Given the description of an element on the screen output the (x, y) to click on. 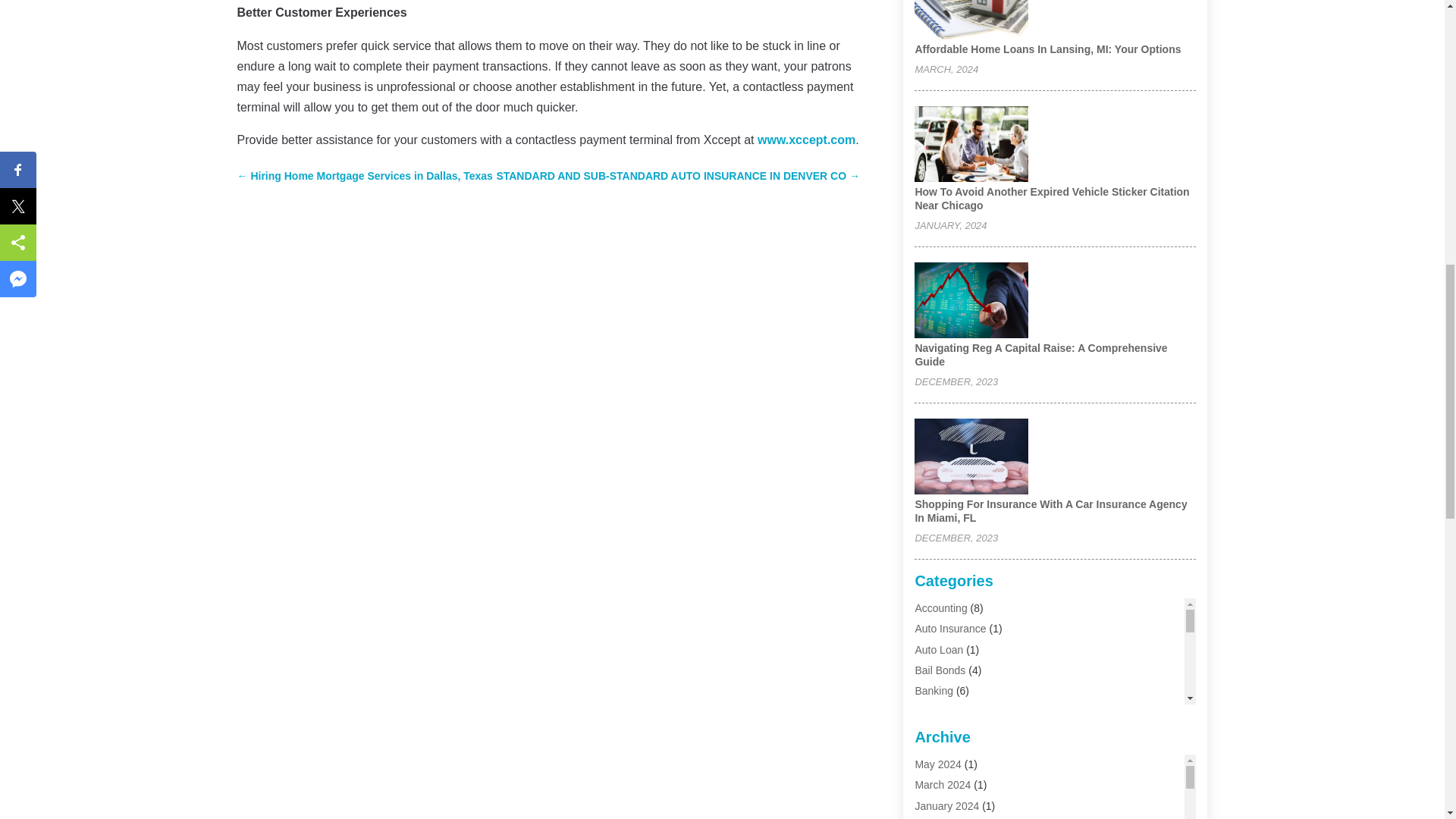
Gold Dealer (942, 793)
History Of Finance (958, 813)
Banking (933, 690)
Navigating Reg A Capital Raise: A Comprehensive Guide (1040, 354)
FInancial Service (954, 773)
www.xccept.com (806, 139)
Affordable Home Loans In Lansing, MI: Your Options (1047, 49)
Bail Bonds (939, 670)
Auto Insurance (949, 628)
Debt (925, 731)
Auto Loan (938, 649)
Accounting (940, 607)
Family Practice Physician (974, 752)
